Given the description of an element on the screen output the (x, y) to click on. 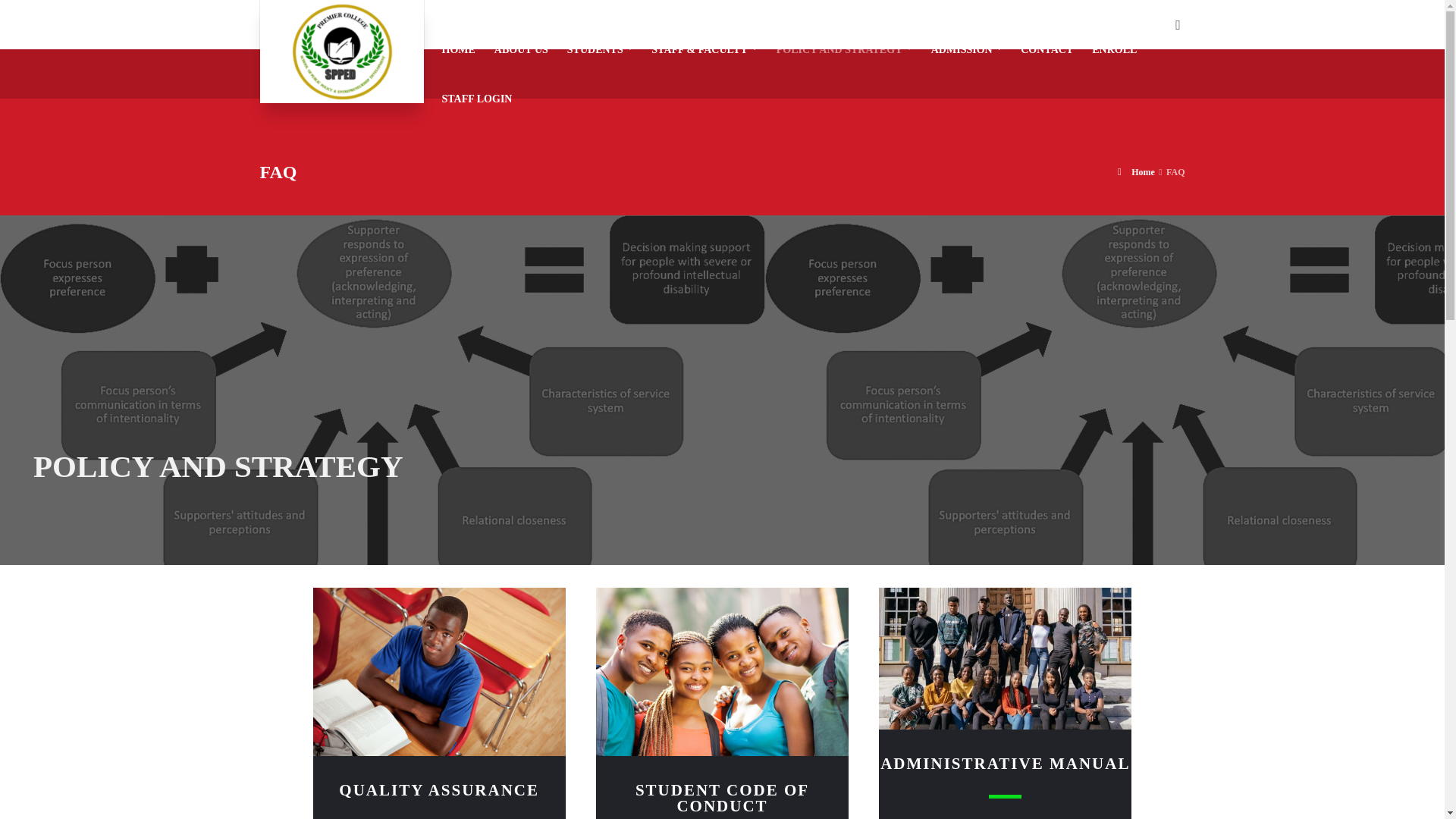
ADMISSION (966, 48)
HOME (458, 48)
ENROLL (1115, 48)
ABOUT US (520, 48)
spped-edu.org (341, 51)
STUDENTS (600, 48)
STAFF LOGIN (476, 98)
CONTACT (1047, 48)
POLICY AND STRATEGY (844, 48)
